Given the description of an element on the screen output the (x, y) to click on. 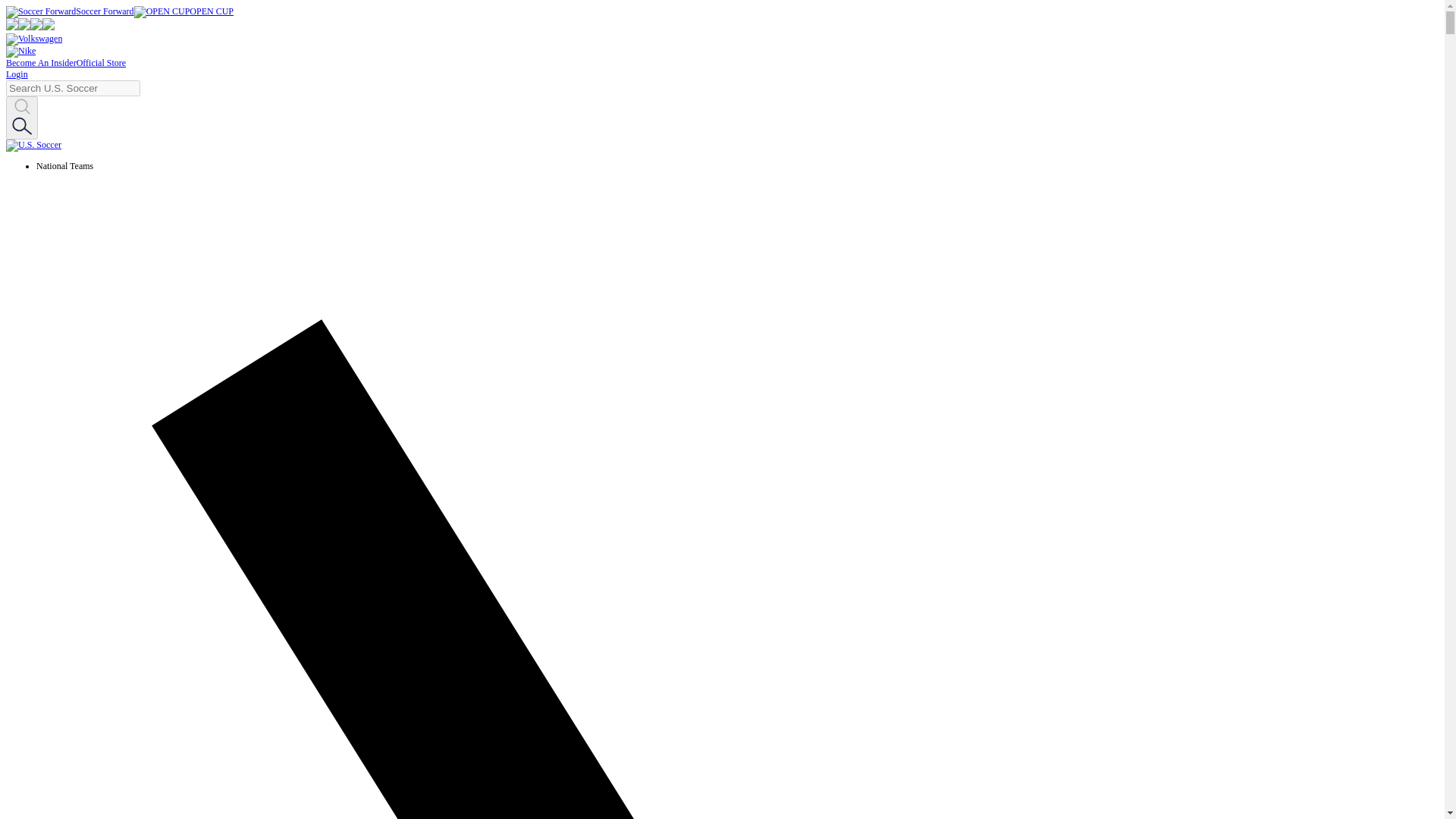
Login (16, 73)
Search (21, 107)
OPEN CUP (182, 10)
Soccer Forward (69, 10)
Search (21, 127)
Become An Insider (41, 62)
Search icon (21, 126)
Official Store (101, 62)
Search icon (21, 117)
